Given the description of an element on the screen output the (x, y) to click on. 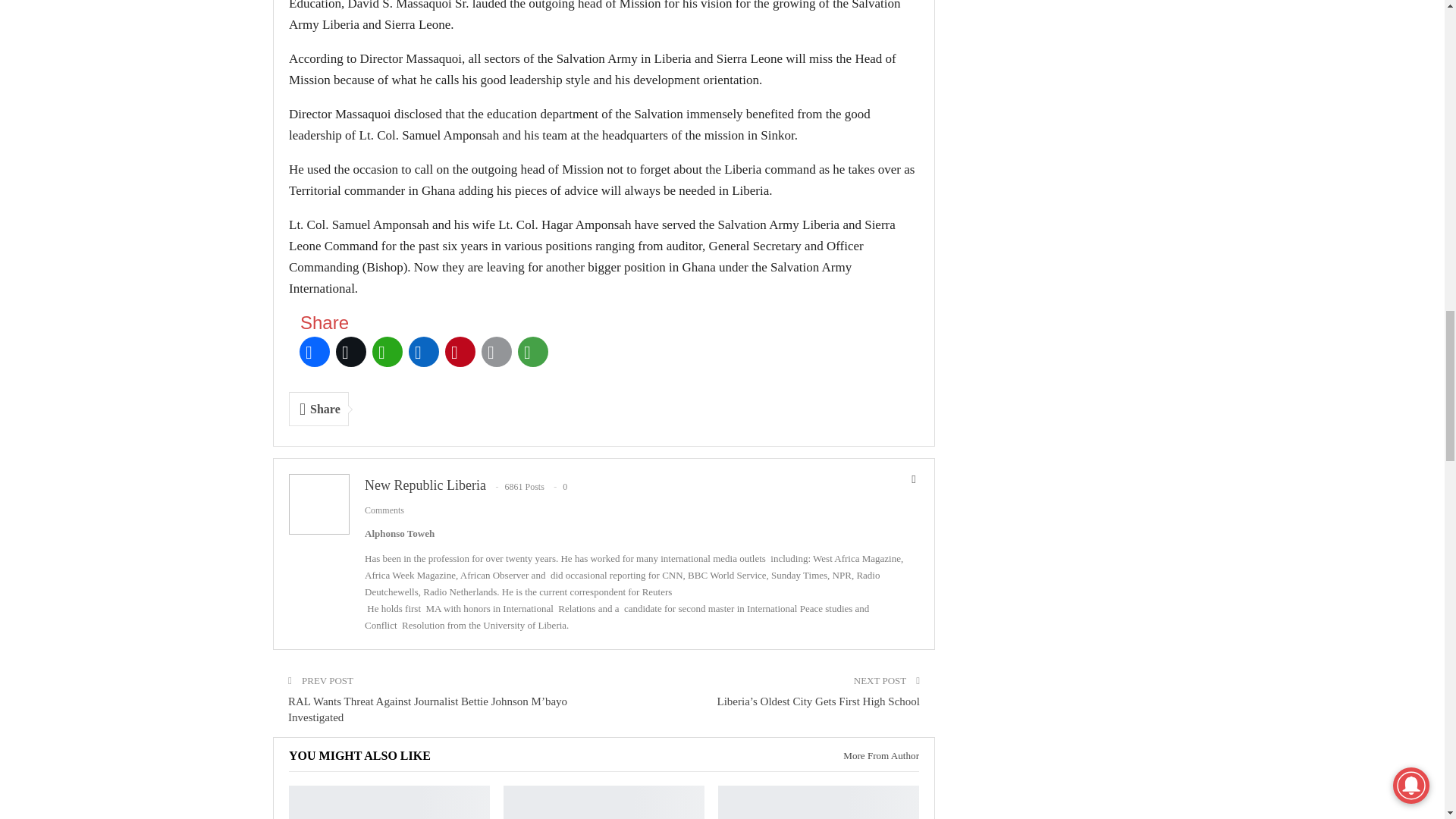
Facebook (315, 351)
WhatsApp (387, 351)
